Given the description of an element on the screen output the (x, y) to click on. 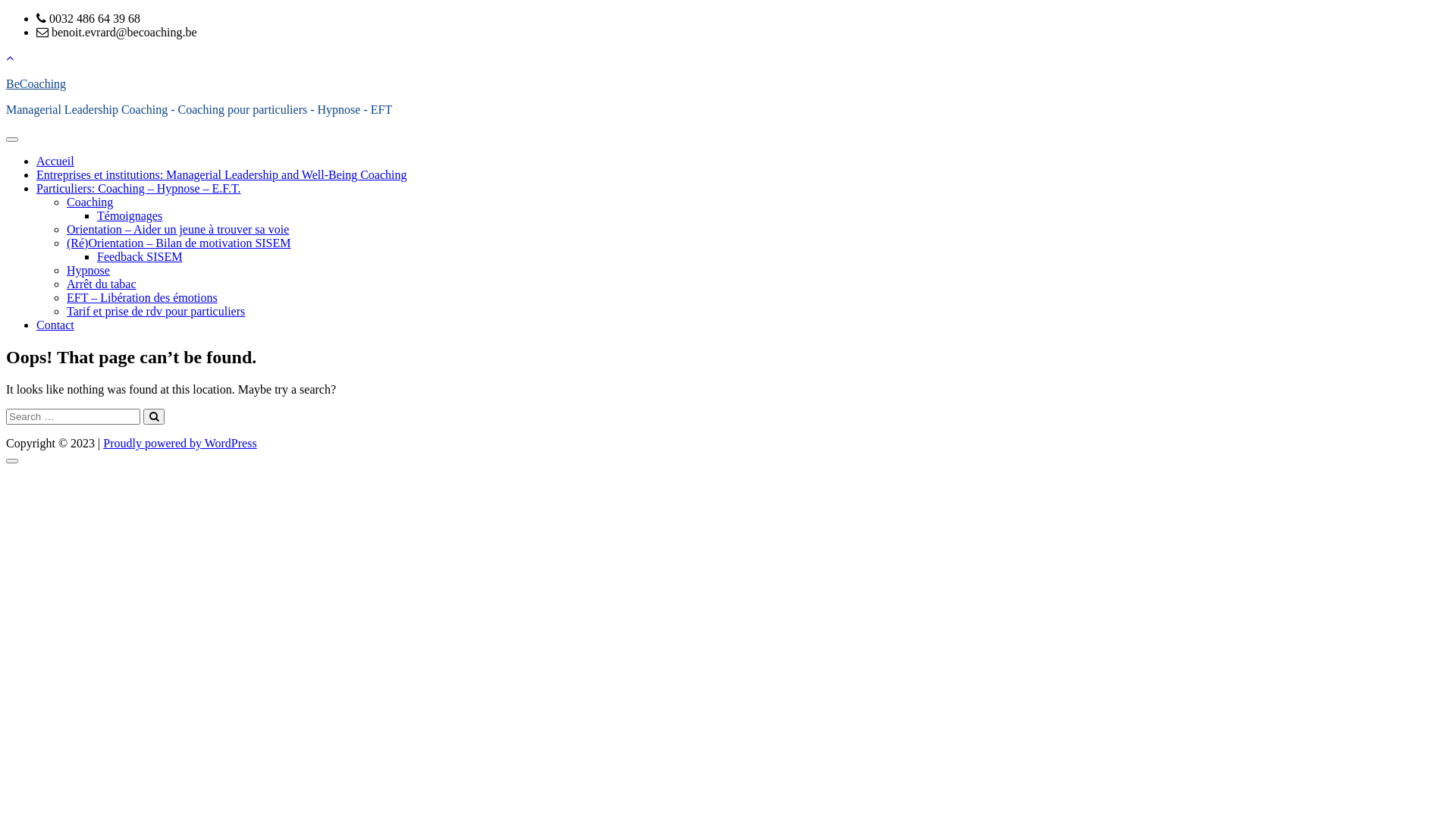
Scroll up to top Element type: text (12, 460)
Accueil Element type: text (55, 160)
Search Element type: text (153, 416)
BeCoaching Element type: text (35, 83)
Contact Element type: text (55, 324)
Skip To Content Element type: text (5, 11)
Coaching Element type: text (89, 201)
Tarif et prise de rdv pour particuliers Element type: text (155, 310)
Proudly powered by WordPress Element type: text (179, 442)
Toggle navigation Element type: text (12, 139)
Toggle Top Bar Element type: hover (9, 57)
Hypnose Element type: text (87, 269)
Feedback SISEM Element type: text (139, 256)
